Given the description of an element on the screen output the (x, y) to click on. 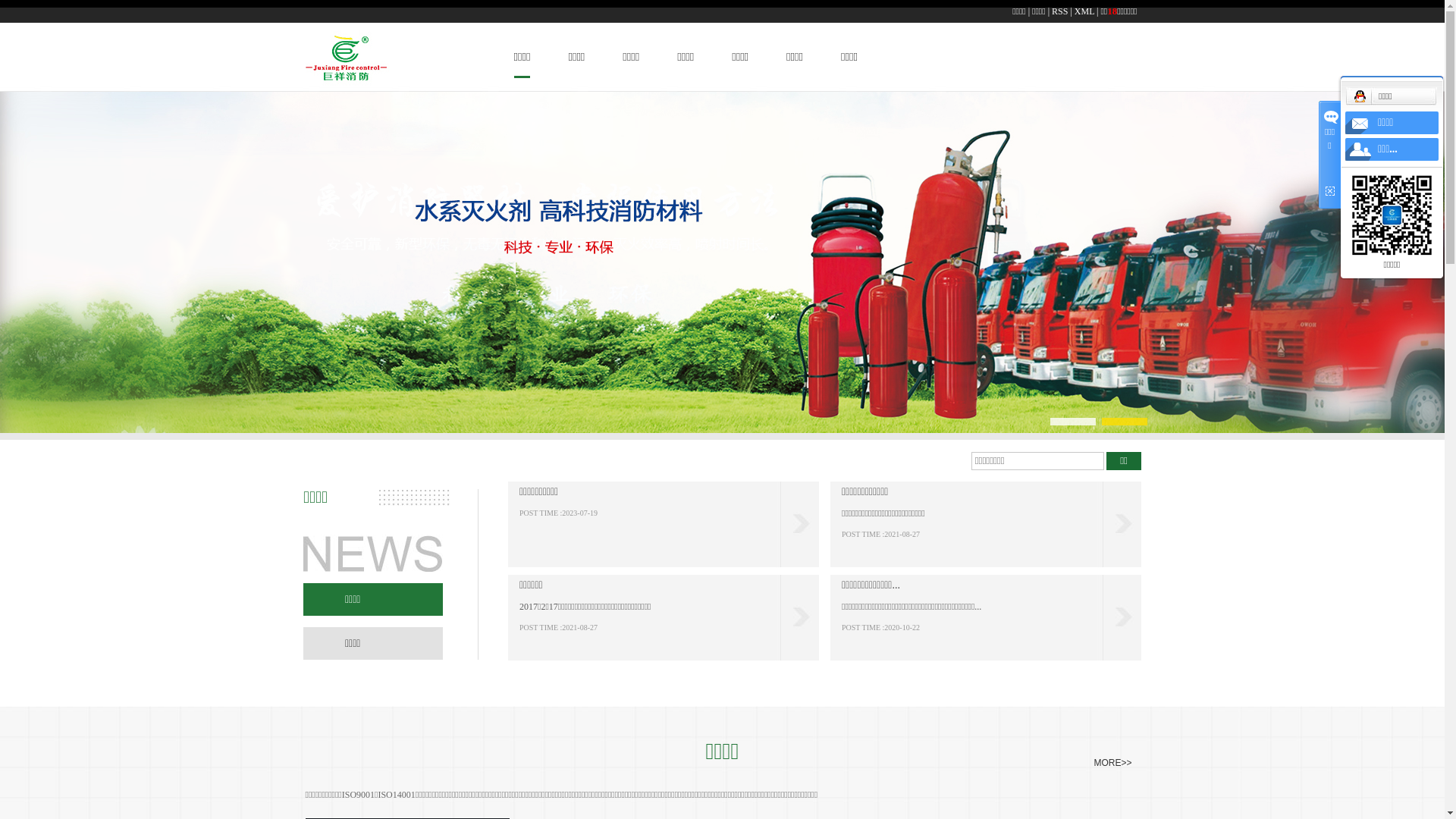
RSS Element type: text (1059, 11)
XML Element type: text (1084, 11)
2 Element type: text (1104, 421)
MORE>> Element type: text (1112, 762)
1 Element type: text (1053, 421)
